Given the description of an element on the screen output the (x, y) to click on. 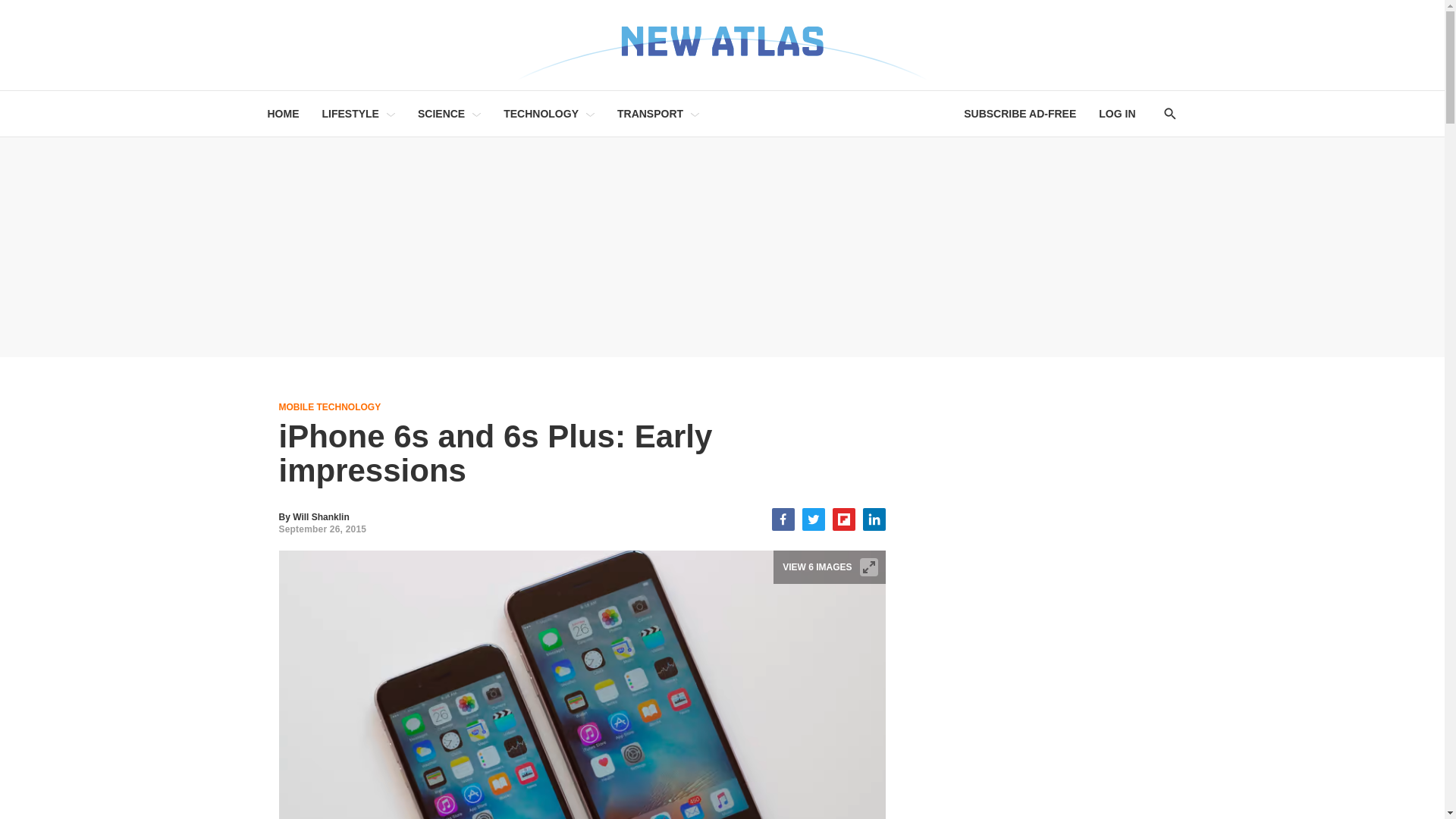
View full-screen (868, 566)
